Given the description of an element on the screen output the (x, y) to click on. 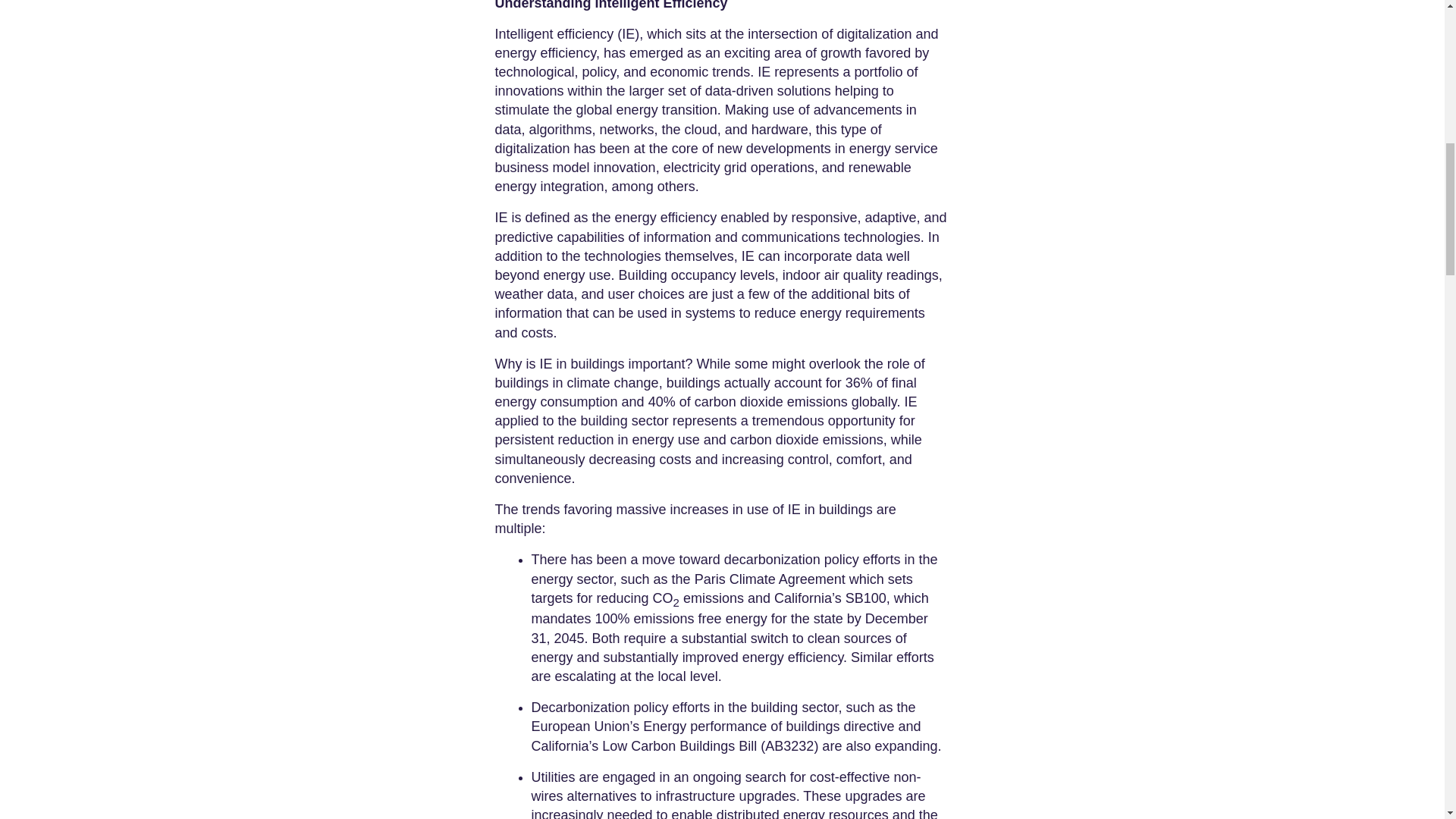
ongoing search (739, 776)
AB3232 (789, 745)
Paris Climate Agreement (767, 579)
defined as (554, 217)
non-wires alternatives (725, 786)
SB100 (863, 598)
Energy performance of buildings directive (766, 726)
data, algorithms, networks, the cloud, and hardware (651, 129)
